Given the description of an element on the screen output the (x, y) to click on. 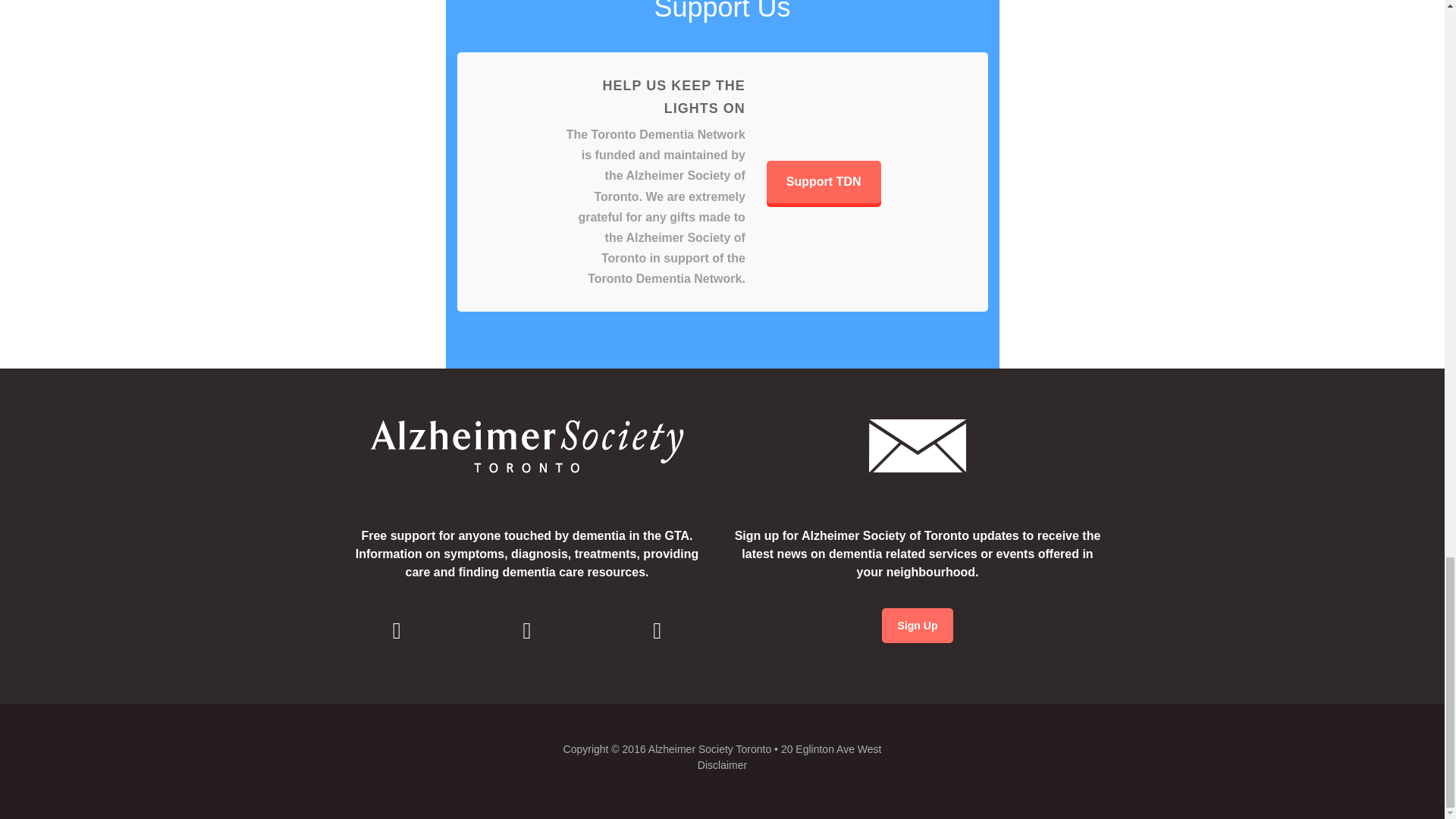
Instagram (526, 630)
Give to the Alzheimer Society (823, 181)
Twitter (657, 630)
AST Email Updates (917, 625)
Facebook (396, 630)
email-signup-white (917, 445)
